Given the description of an element on the screen output the (x, y) to click on. 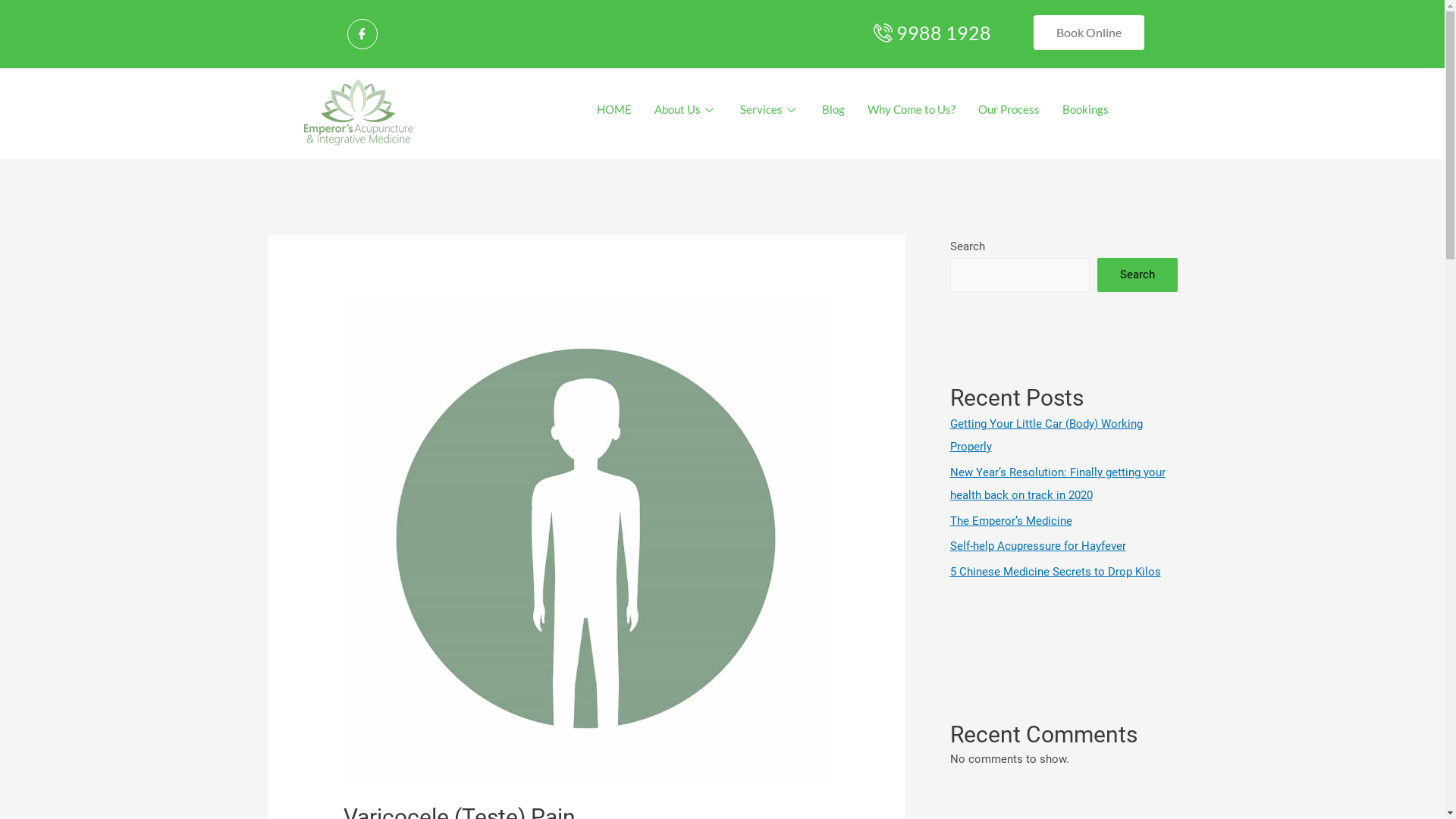
9988 1928 Element type: text (930, 32)
Our Process Element type: text (1008, 109)
5 Chinese Medicine Secrets to Drop Kilos Element type: text (1054, 571)
HOME Element type: text (614, 109)
Why Come to Us? Element type: text (911, 109)
Getting Your Little Car (Body) Working Properly Element type: text (1045, 435)
Bookings Element type: text (1085, 109)
Book Online Element type: text (1088, 32)
About Us Element type: text (685, 109)
Services Element type: text (769, 109)
Blog Element type: text (833, 109)
Self-help Acupressure for Hayfever Element type: text (1037, 545)
Search Element type: text (1136, 274)
